Given the description of an element on the screen output the (x, y) to click on. 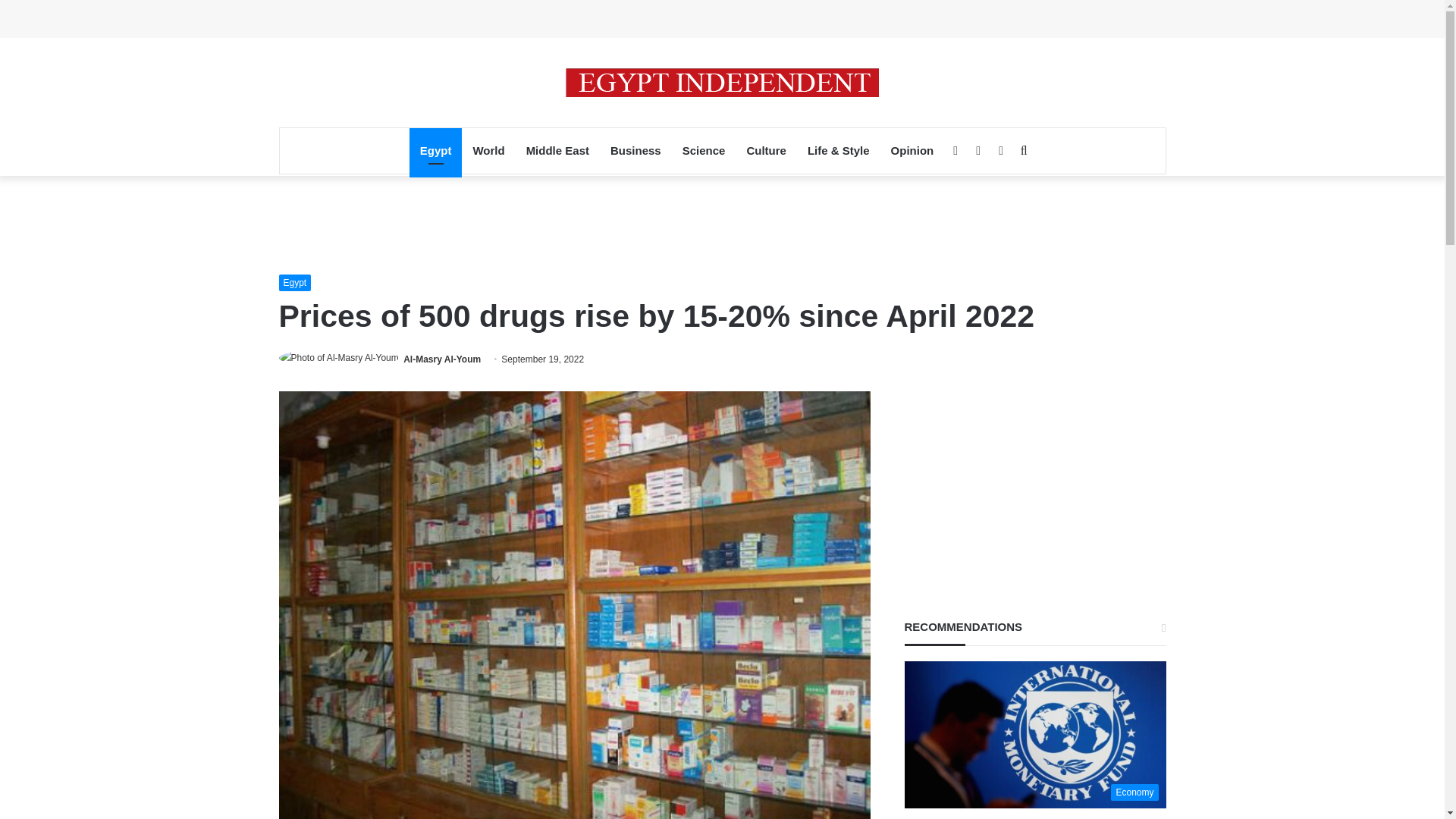
Middle East (557, 150)
Al-Masry Al-Youm (441, 358)
Egypt (295, 282)
Opinion (912, 150)
Business (635, 150)
Egypt Independent (722, 82)
Egypt (436, 150)
Culture (765, 150)
World (488, 150)
Science (703, 150)
Al-Masry Al-Youm (441, 358)
